Given the description of an element on the screen output the (x, y) to click on. 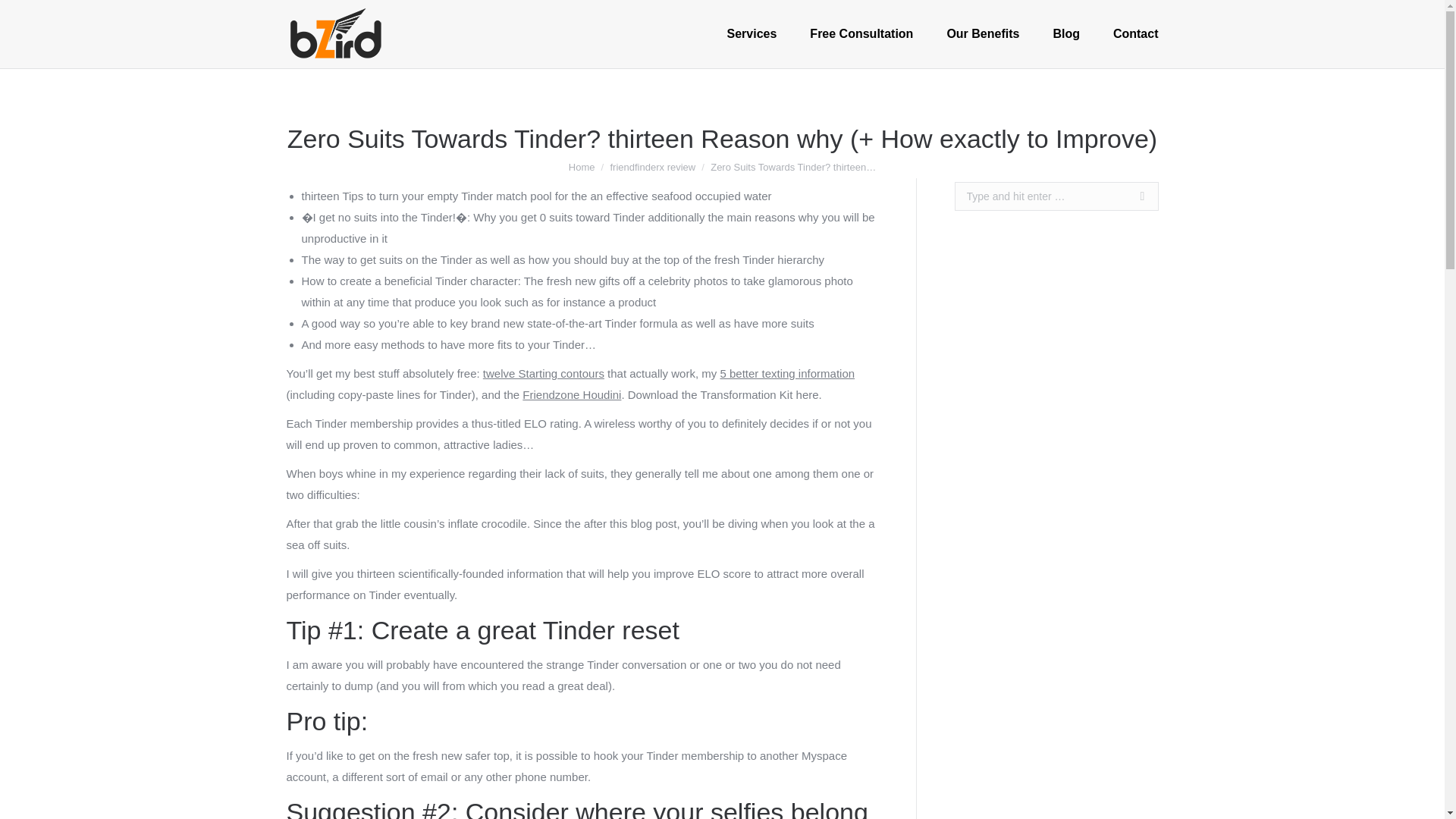
Post Comment (52, 15)
Go! (1134, 195)
friendfinderx review (652, 166)
Home (582, 166)
Go! (1134, 195)
Our Benefits (982, 34)
Free Consultation (860, 34)
Blog (1066, 34)
Contact (1135, 34)
Go! (1134, 195)
Services (751, 34)
